Given the description of an element on the screen output the (x, y) to click on. 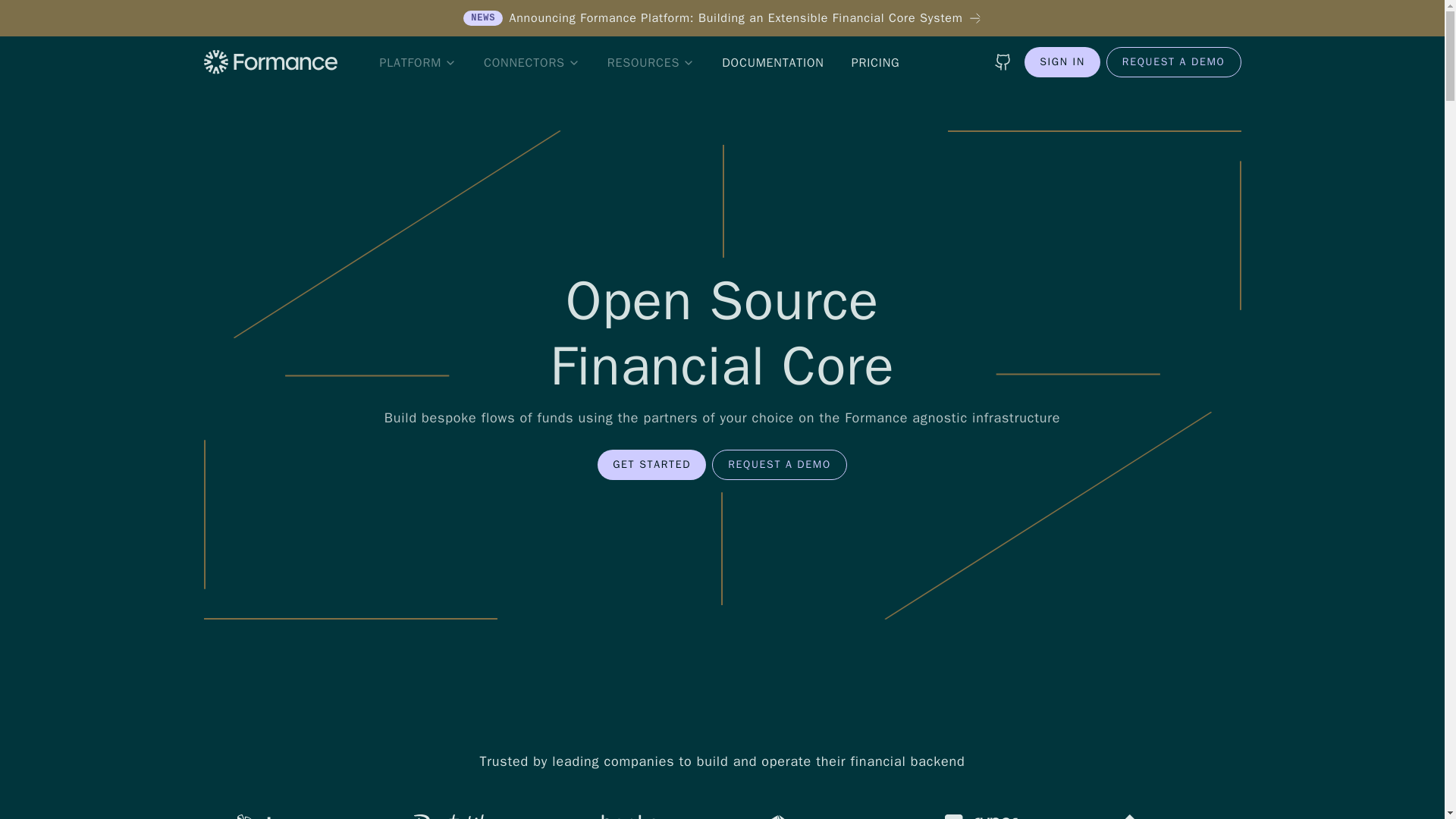
REQUEST A DEMO (779, 464)
REQUEST A DEMO (1173, 61)
PRICING (876, 63)
CONNECTORS (531, 63)
GET STARTED (651, 464)
RESOURCES (650, 63)
DOCUMENTATION (772, 63)
PLATFORM (417, 63)
SIGN IN (1062, 61)
